Given the description of an element on the screen output the (x, y) to click on. 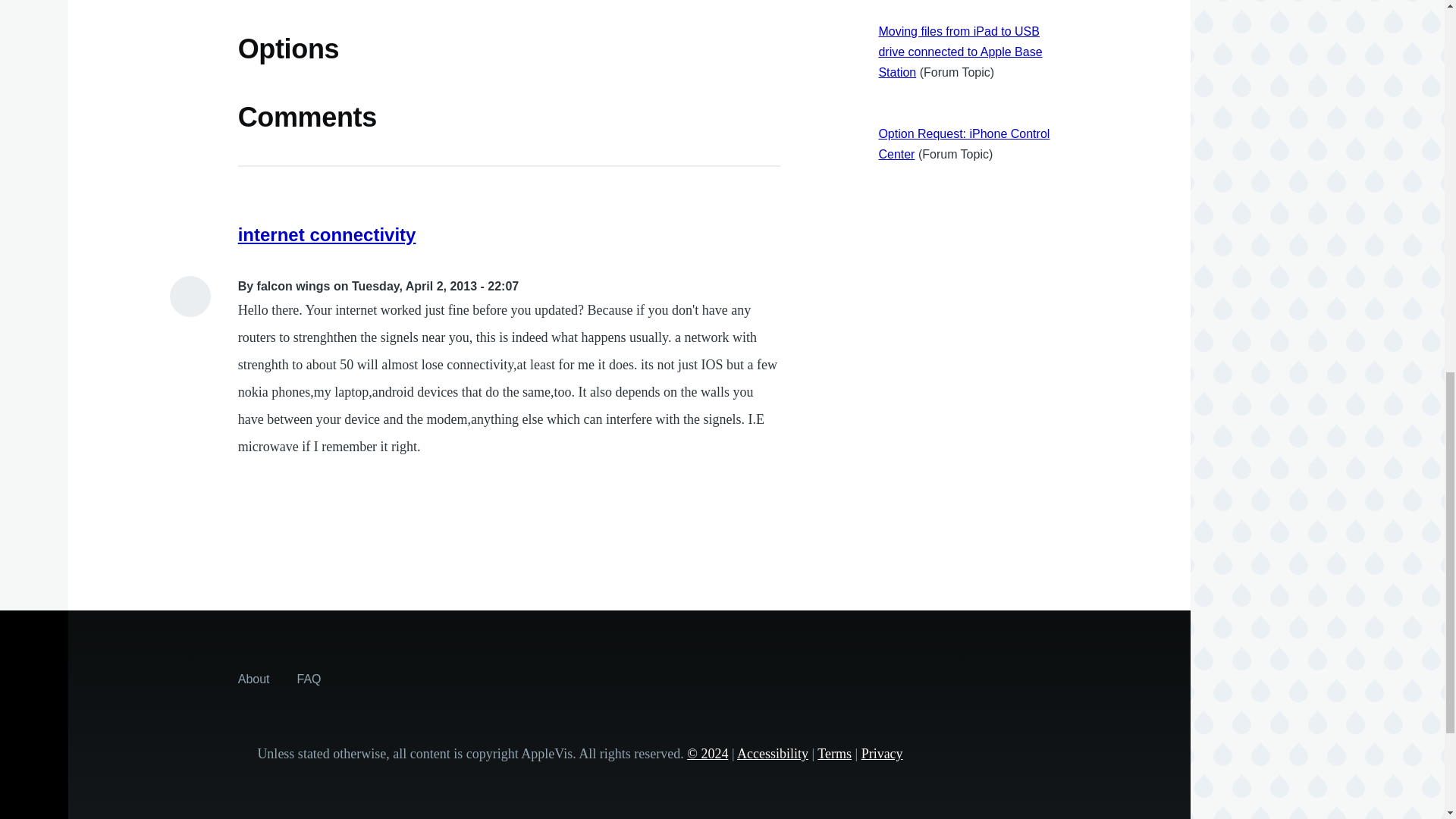
Option Request: iPhone Control Center (963, 143)
internet connectivity (327, 234)
Terms (833, 753)
About (253, 678)
Privacy (881, 753)
Accessibility (772, 753)
About (253, 678)
